Given the description of an element on the screen output the (x, y) to click on. 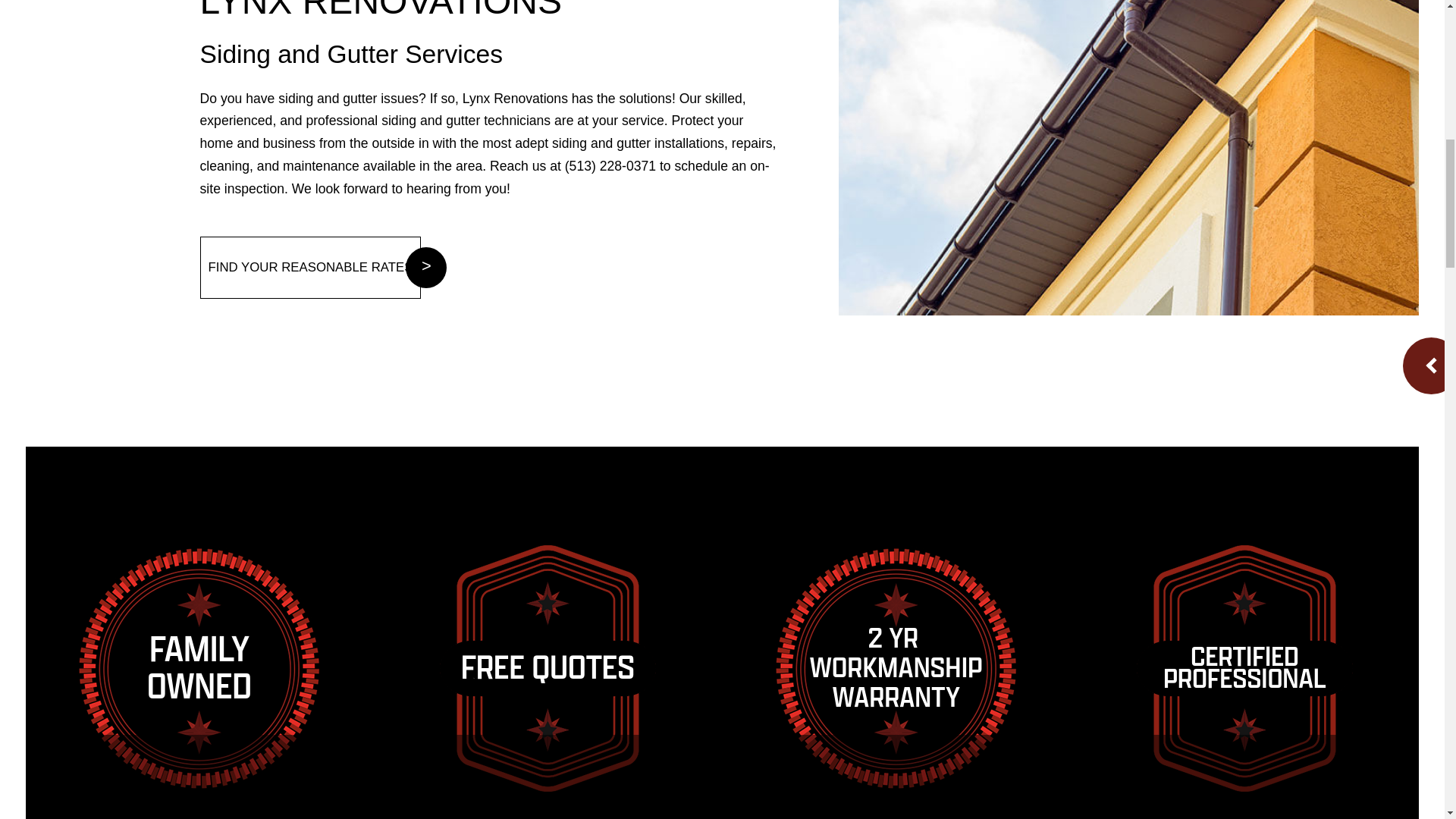
find your reasonable rates (311, 267)
2 YR Workmanship Warranty (896, 668)
Family Owned (199, 668)
